Given the description of an element on the screen output the (x, y) to click on. 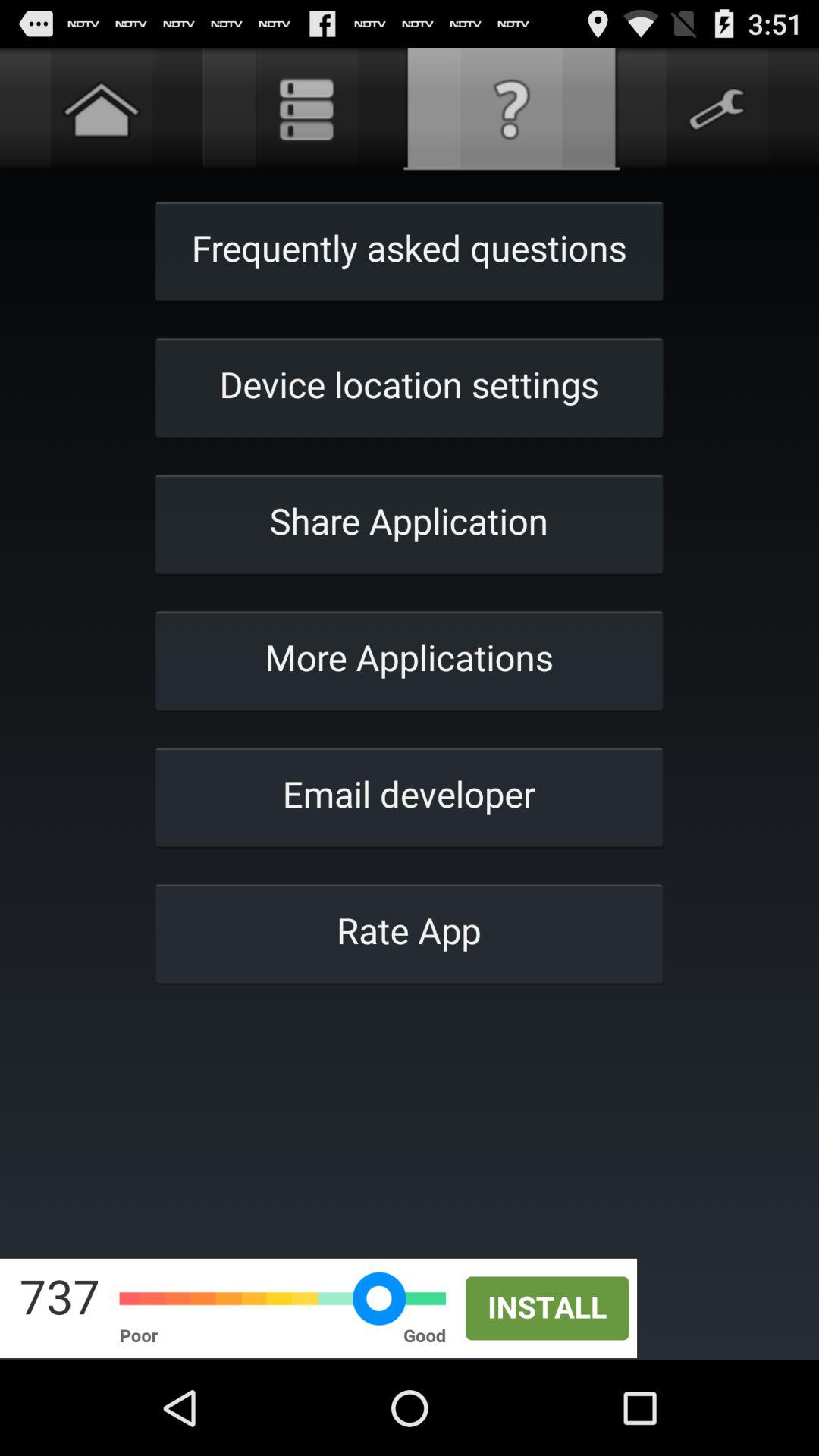
install a advertisement app (409, 1308)
